Given the description of an element on the screen output the (x, y) to click on. 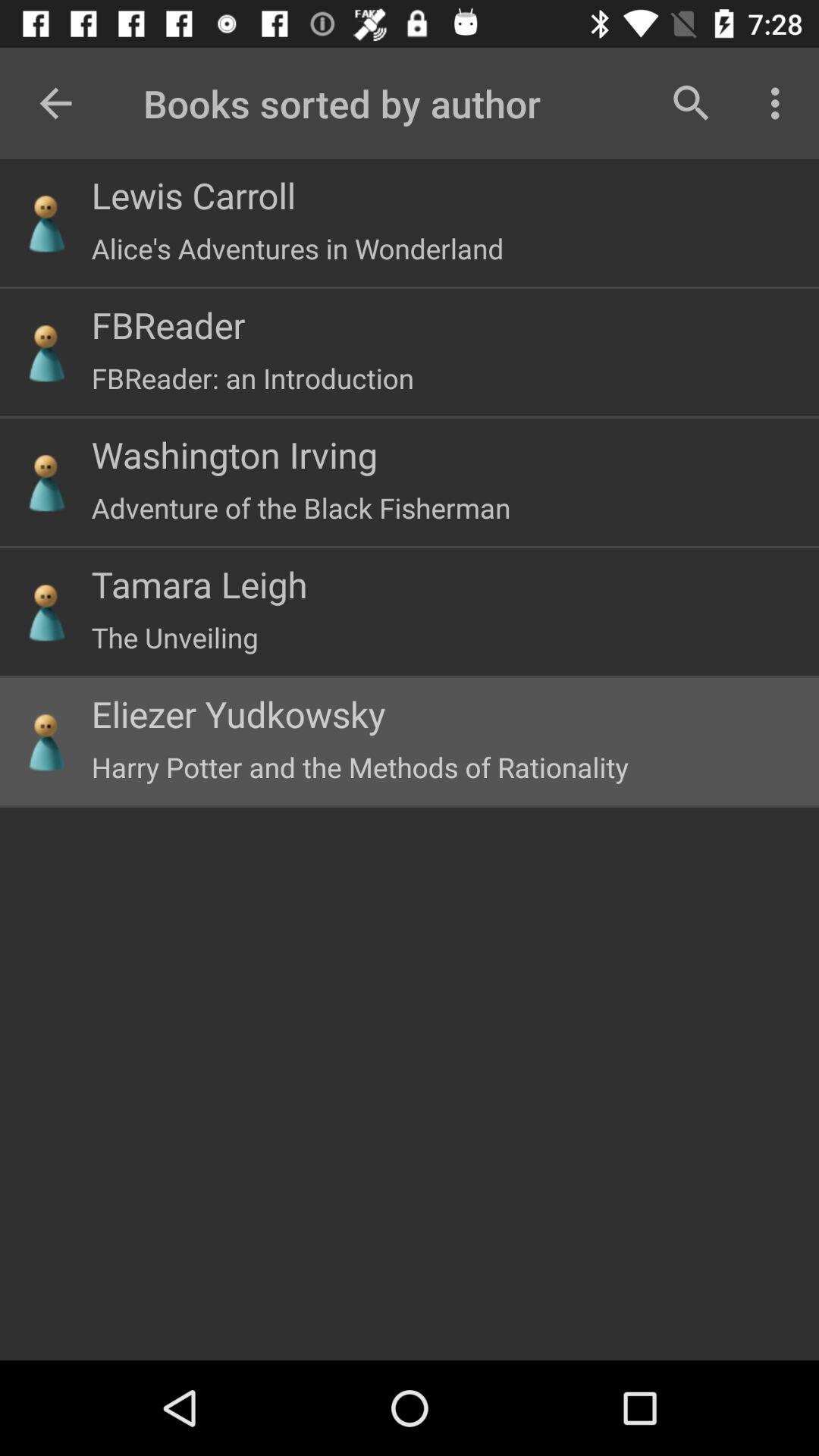
scroll to the alice s adventures (297, 248)
